Given the description of an element on the screen output the (x, y) to click on. 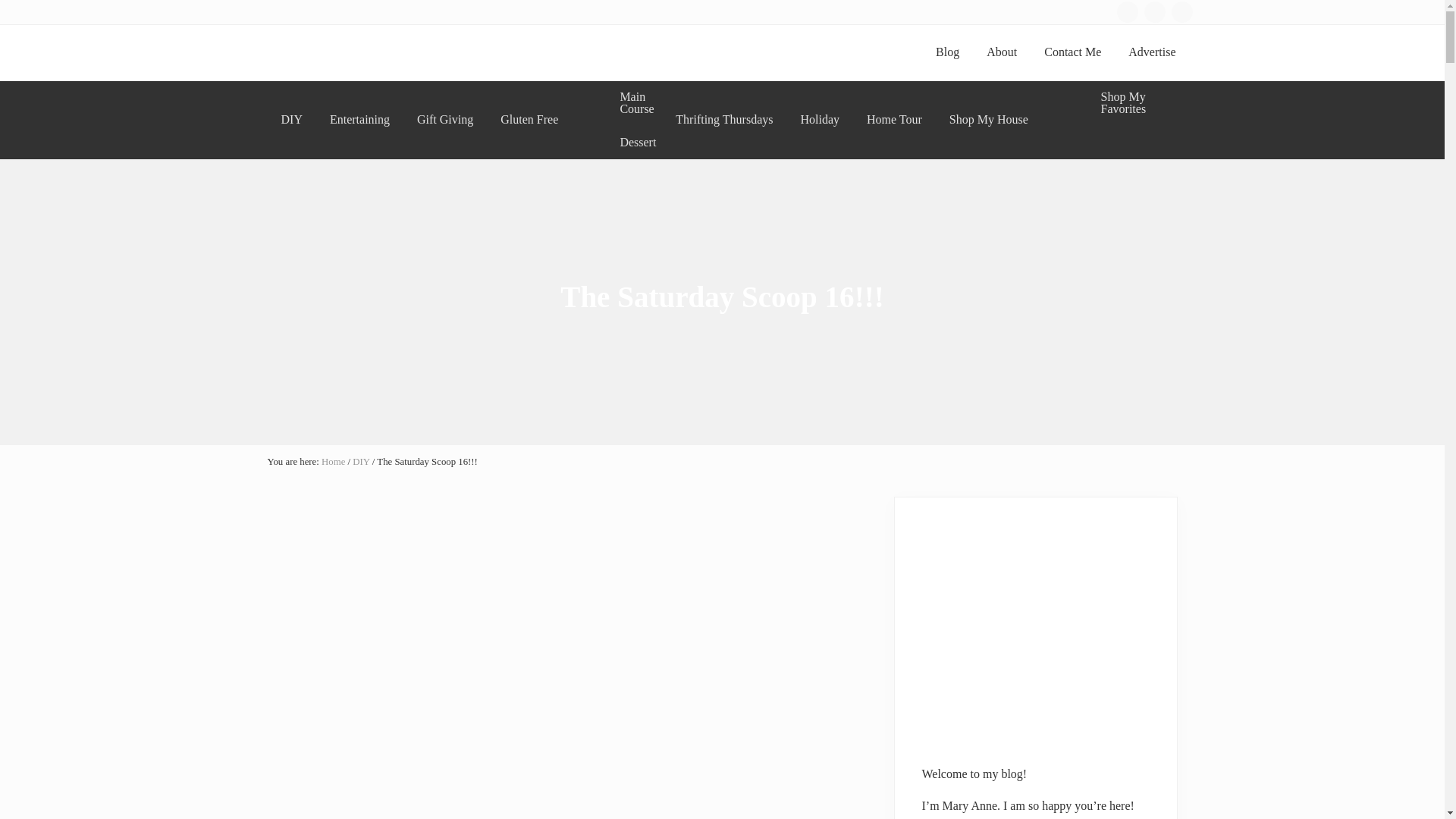
Contact Me (1072, 52)
Instagram (1153, 11)
About (1001, 52)
Instagram (1154, 11)
Facebook (1126, 11)
Facebook (1126, 11)
Pinterest (1181, 11)
Blog (947, 52)
Advertise (1152, 52)
Pinterest (1181, 11)
